Given the description of an element on the screen output the (x, y) to click on. 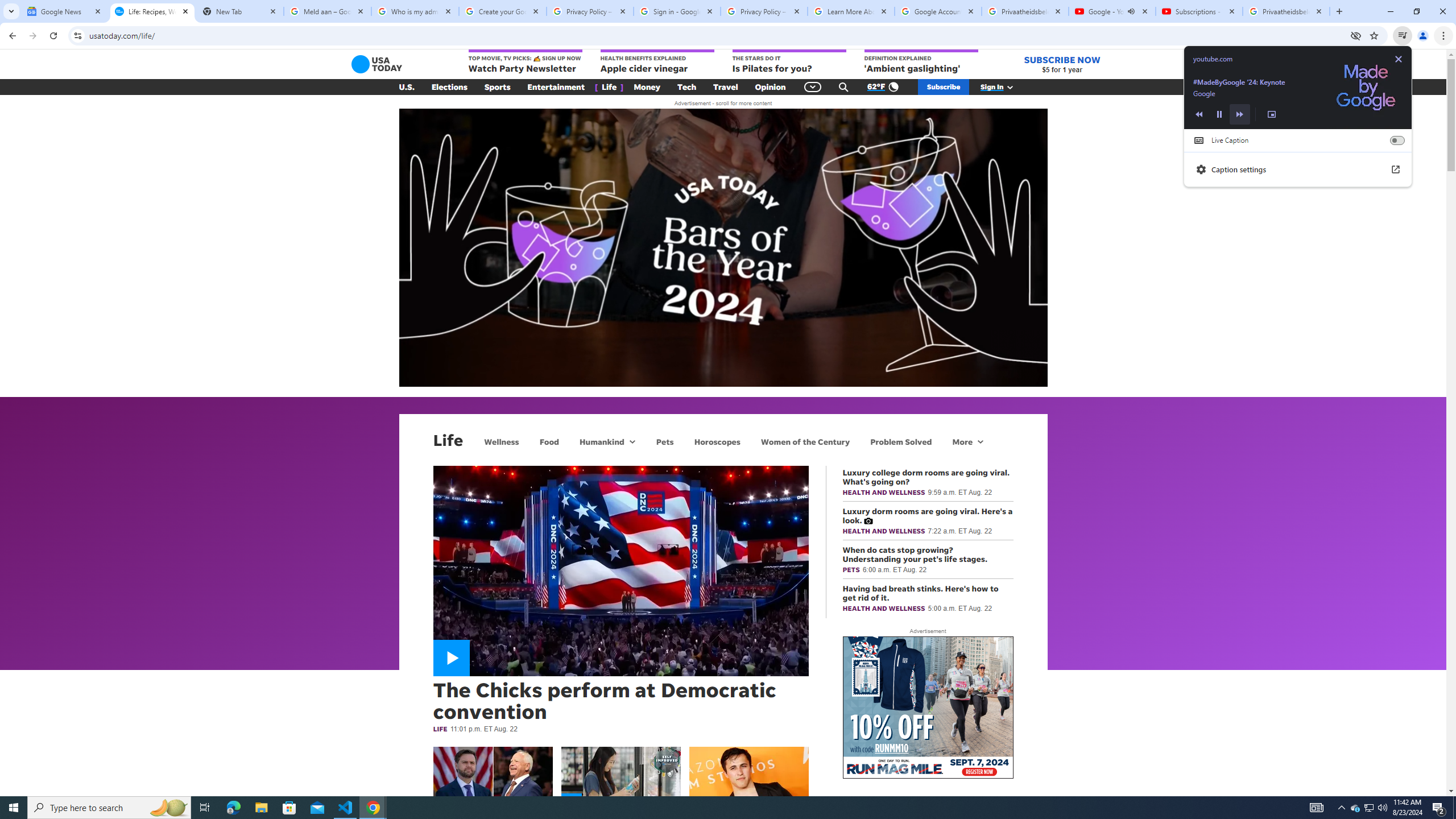
Google Chrome - 2 running windows (1368, 807)
Play (373, 807)
Pets (1219, 114)
U.S. (664, 441)
Action Center, 2 new notifications (406, 87)
Travel (1439, 807)
Horoscopes (725, 87)
Back to tab (717, 441)
Enter picture-in-picture (1297, 87)
More Humankind navigation (1270, 114)
New Tab (631, 441)
